Given the description of an element on the screen output the (x, y) to click on. 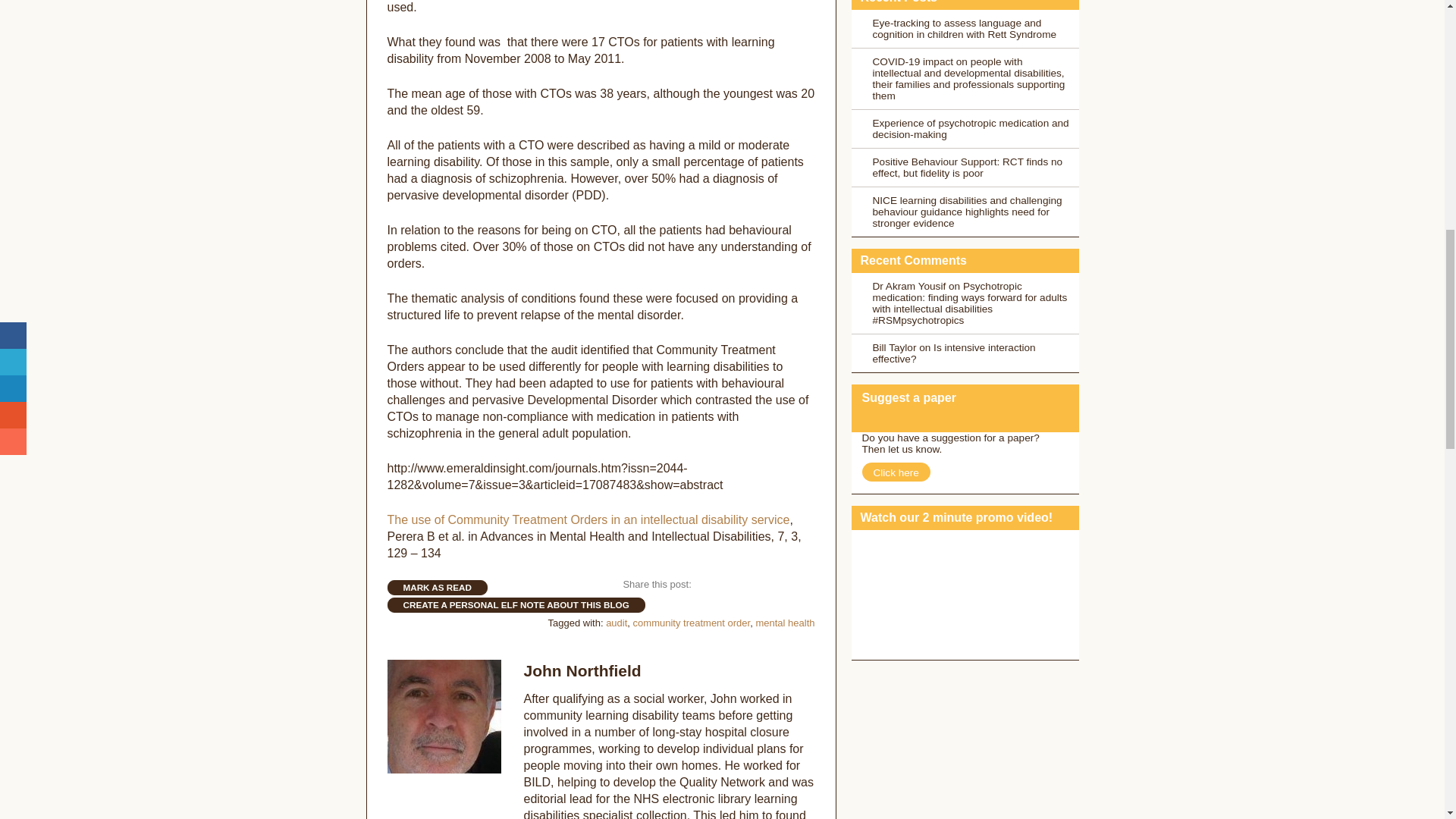
Share via email (801, 584)
Share on Facebook (705, 584)
Share on LinkedIn (753, 584)
John Northfield (581, 670)
Tweet this on Twitter (730, 584)
